Given the description of an element on the screen output the (x, y) to click on. 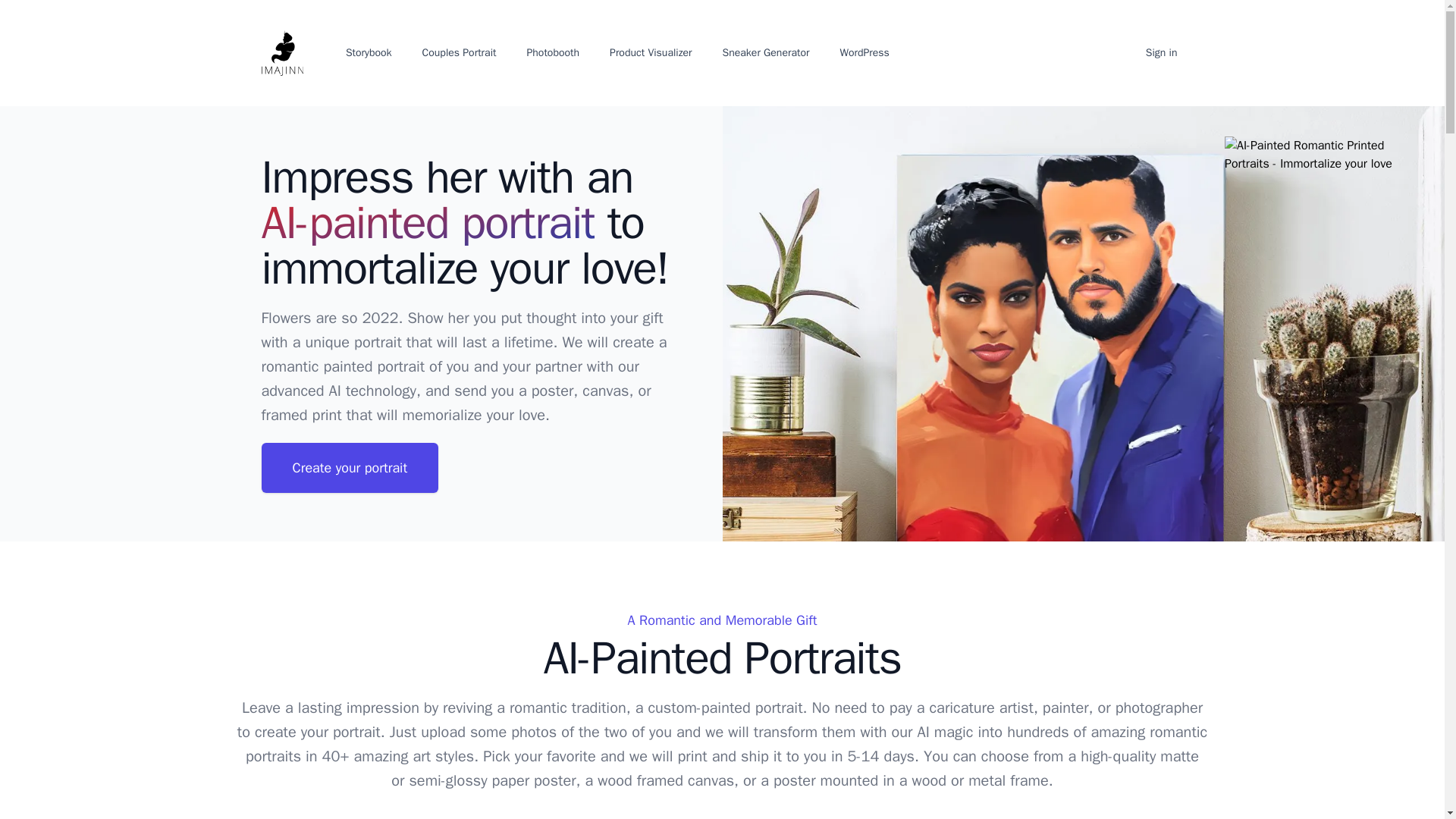
Create your portrait (349, 468)
Sign in (1161, 52)
Photobooth (552, 52)
WordPress (863, 52)
Product Visualizer (650, 52)
Couples Portrait (459, 52)
Sneaker Generator (765, 52)
Storybook (368, 52)
